Given the description of an element on the screen output the (x, y) to click on. 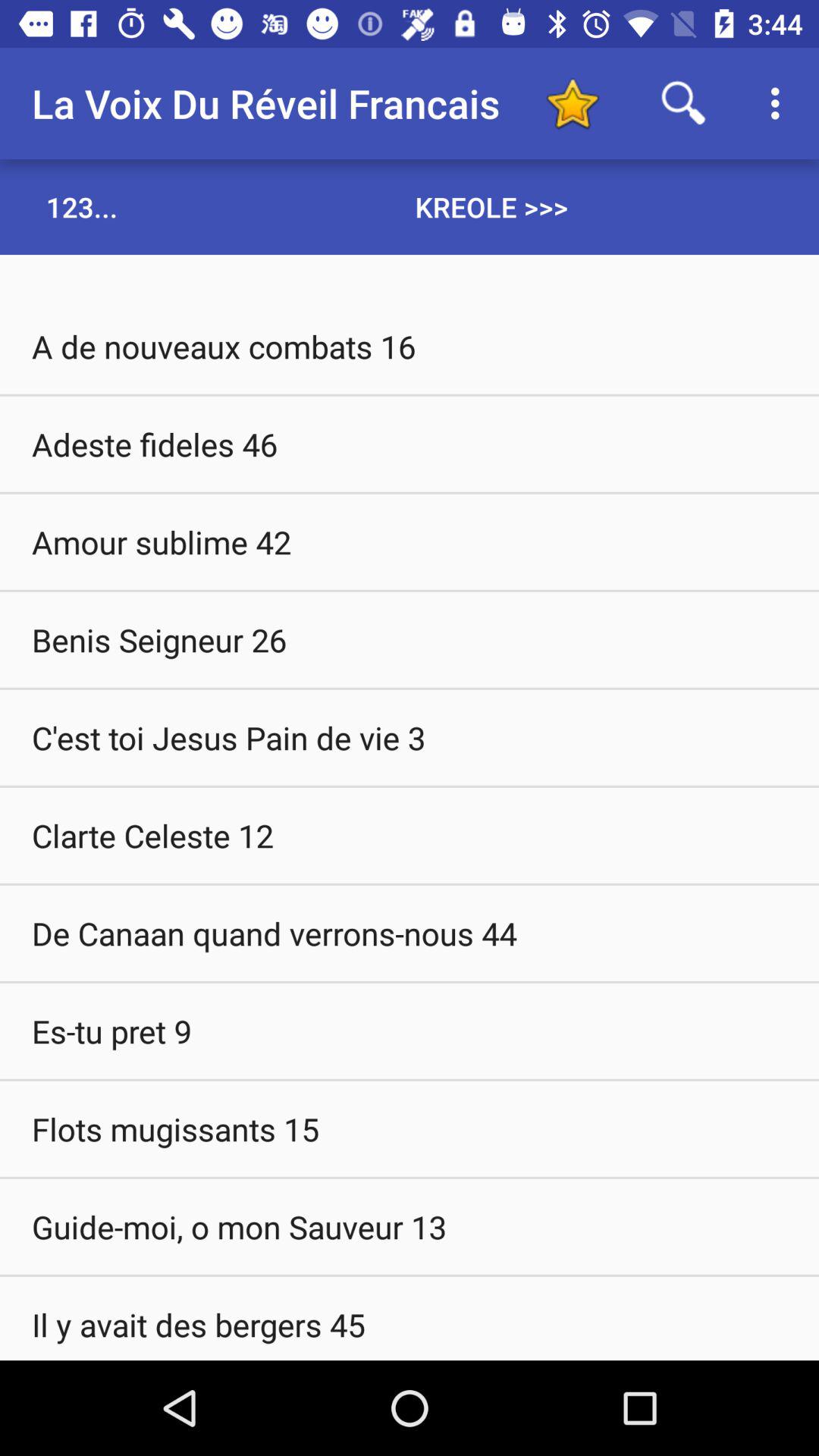
turn off the item above the amour sublime 42 icon (409, 443)
